Given the description of an element on the screen output the (x, y) to click on. 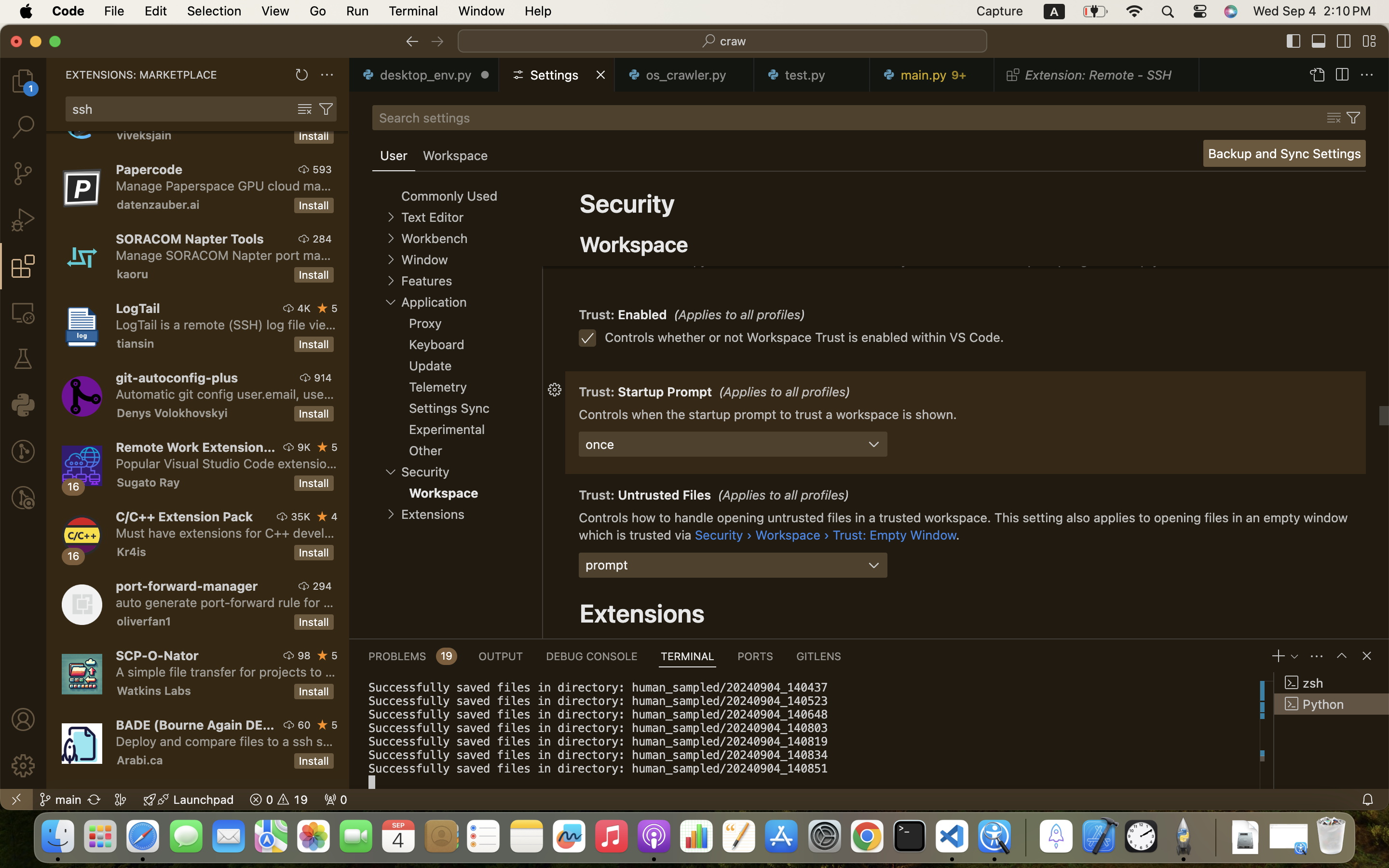
 Element type: AXStaticText (554, 217)
 0 Element type: AXButton (335, 799)
60 Element type: AXStaticText (304, 724)
Automatic git config user.email, user.name, SSH key setting for vscode Element type: AXStaticText (224, 393)
Update Element type: AXStaticText (430, 365)
